Given the description of an element on the screen output the (x, y) to click on. 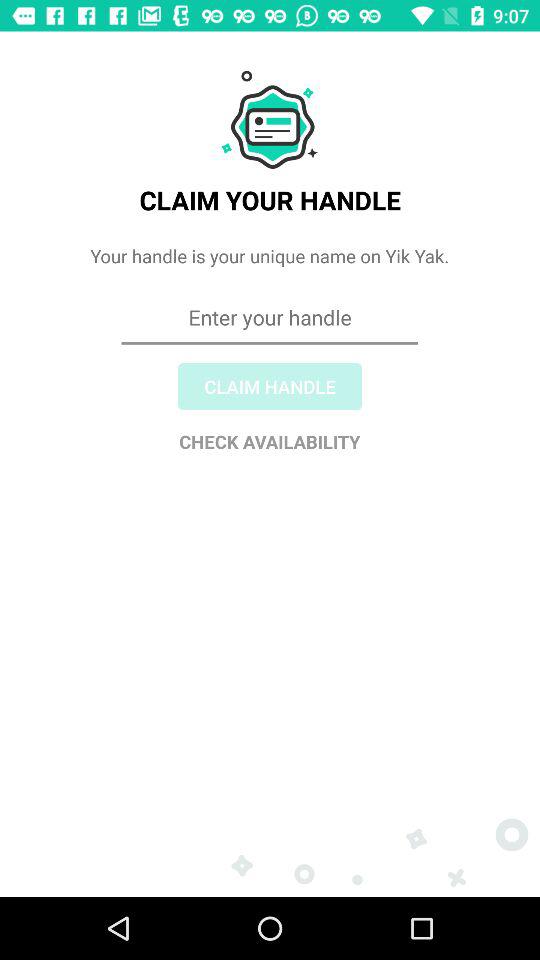
select handle field to type (269, 390)
